Given the description of an element on the screen output the (x, y) to click on. 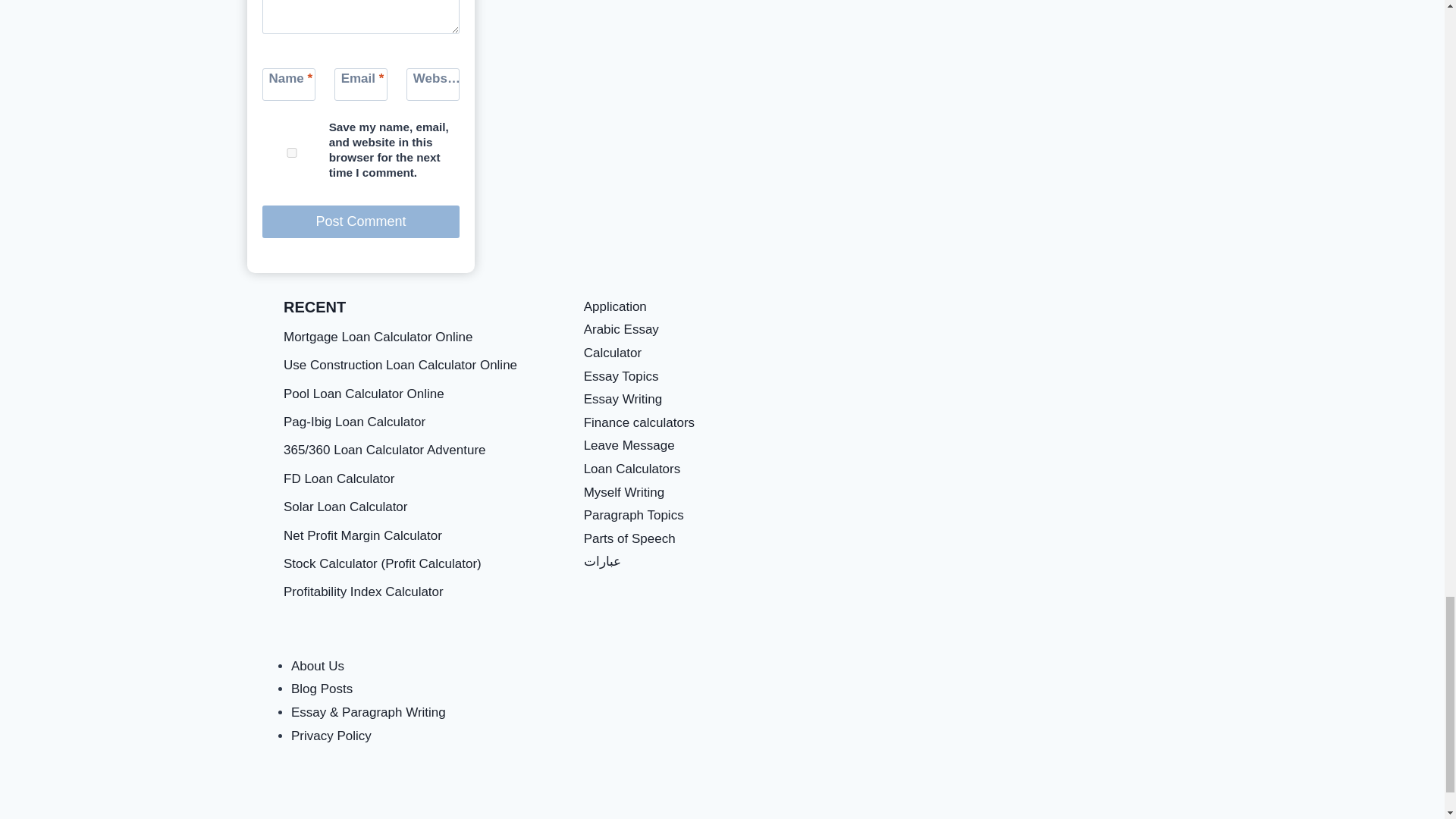
Post Comment (361, 221)
Pool Loan Calculator Online (363, 393)
Profitability Index Calculator (363, 591)
yes (291, 153)
FD Loan Calculator (338, 478)
Use Construction Loan Calculator Online (399, 364)
Pag-Ibig Loan Calculator (354, 421)
Mortgage Loan Calculator Online (377, 336)
Solar Loan Calculator (345, 506)
Post Comment (361, 221)
